Given the description of an element on the screen output the (x, y) to click on. 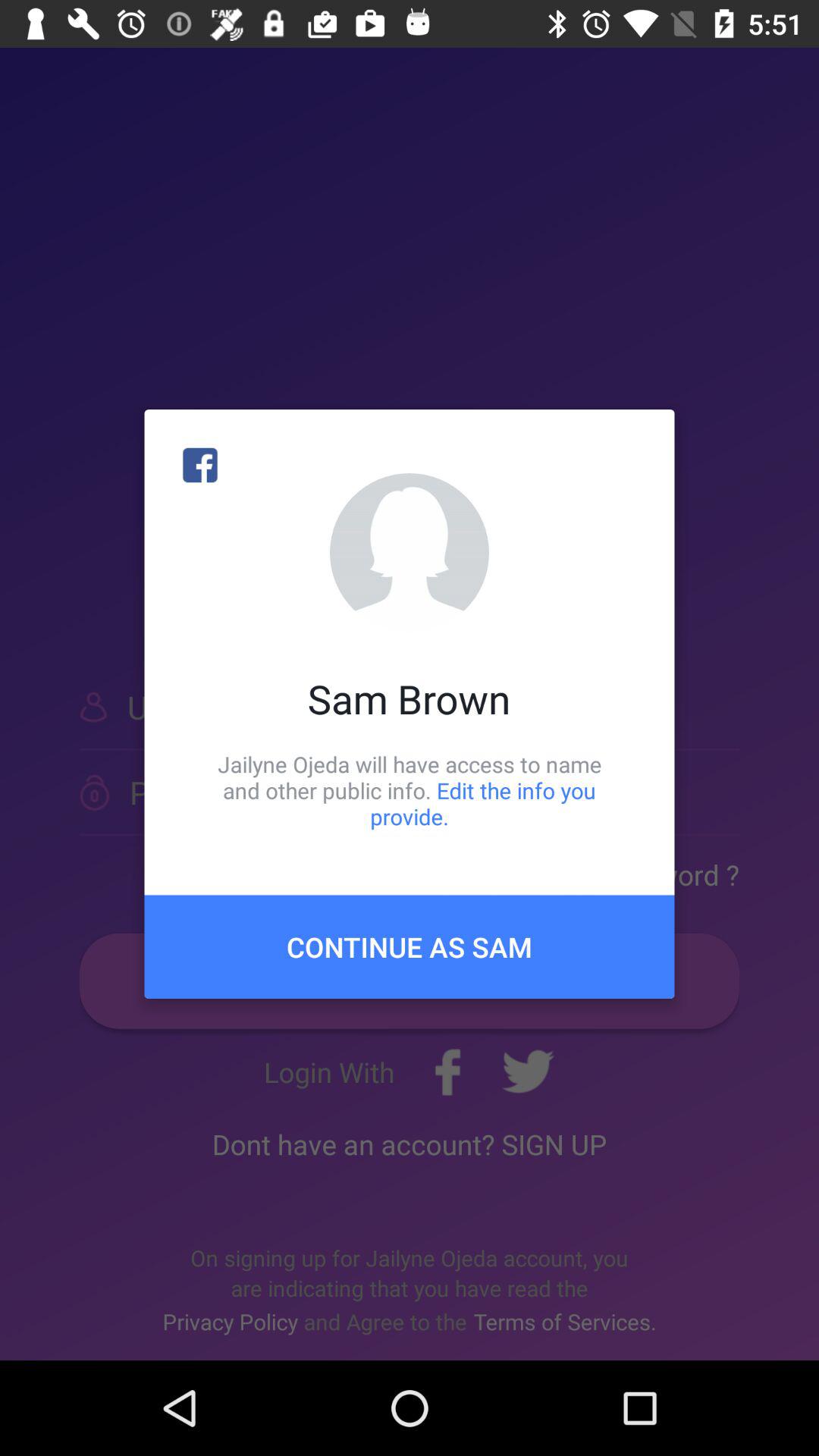
scroll to continue as sam icon (409, 946)
